Given the description of an element on the screen output the (x, y) to click on. 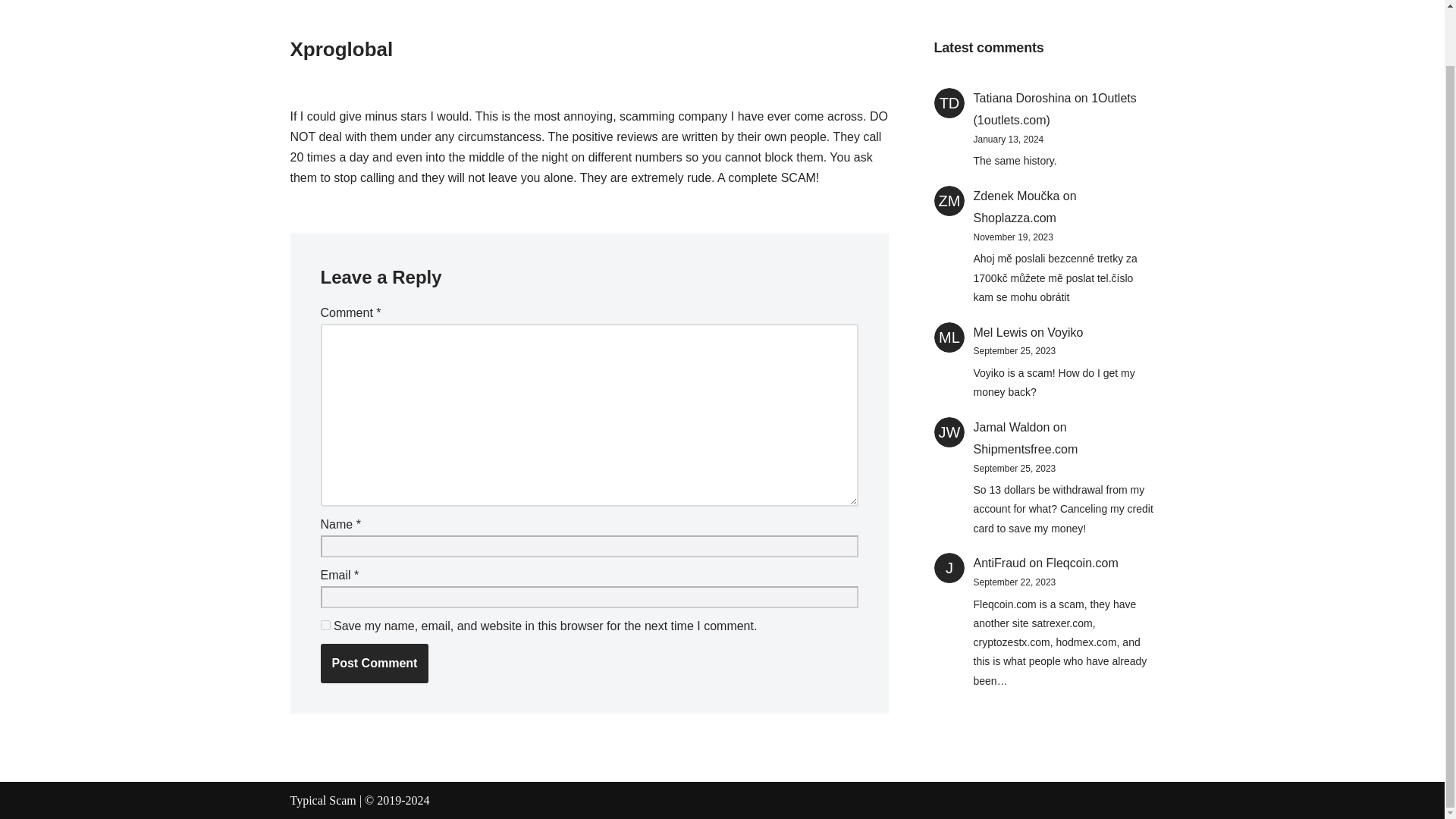
Shoplazza.com (1015, 217)
AntiFraud (1000, 562)
Fleqcoin.com (1082, 562)
yes (325, 624)
Post Comment (374, 663)
Typical Scam (322, 799)
Shipmentsfree.com (1026, 449)
Voyiko (1064, 332)
Post Comment (374, 663)
